Given the description of an element on the screen output the (x, y) to click on. 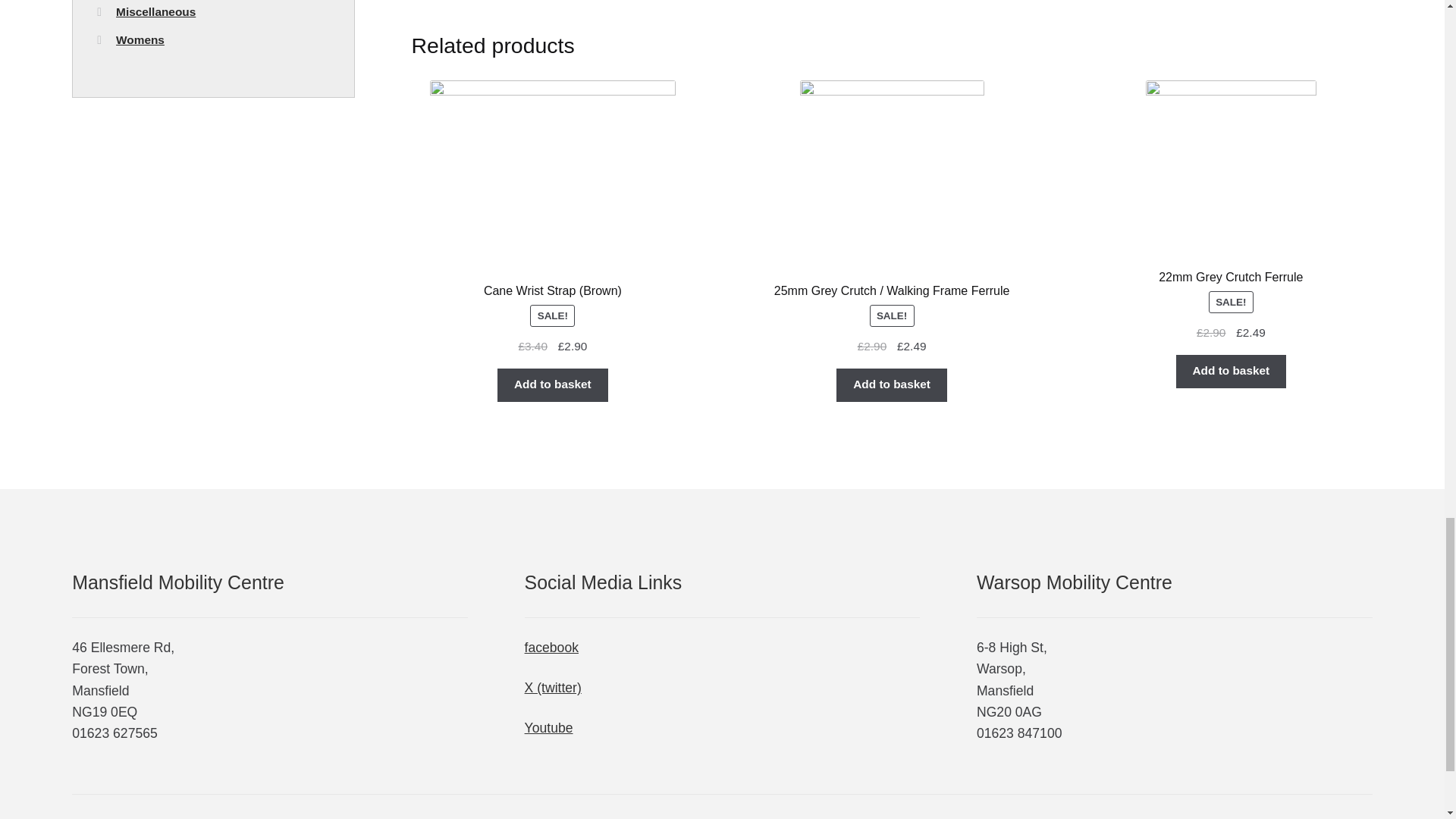
Add to basket (552, 385)
Add to basket (890, 385)
